Given the description of an element on the screen output the (x, y) to click on. 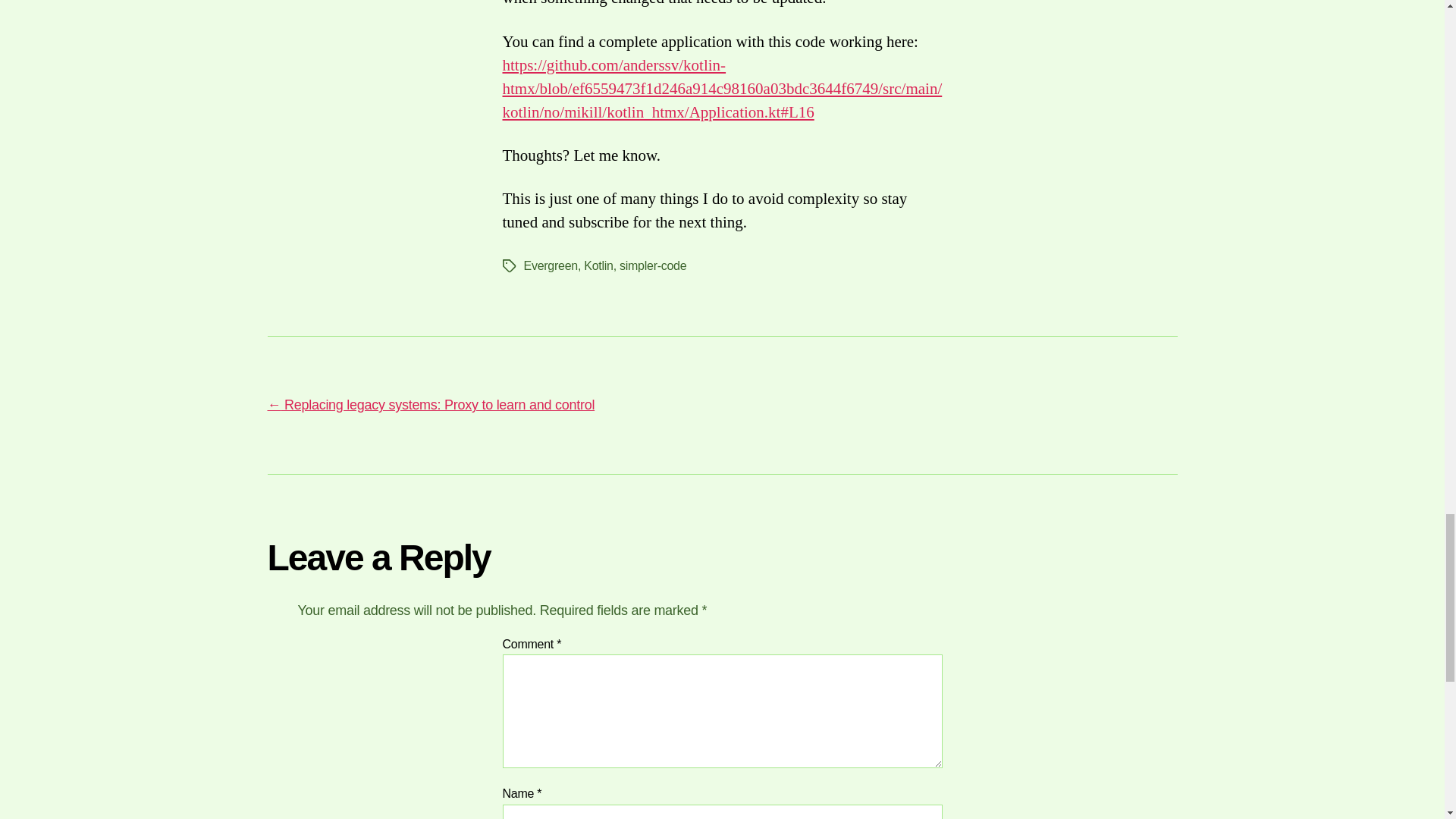
Kotlin (597, 265)
Evergreen (549, 265)
simpler-code (652, 265)
